Given the description of an element on the screen output the (x, y) to click on. 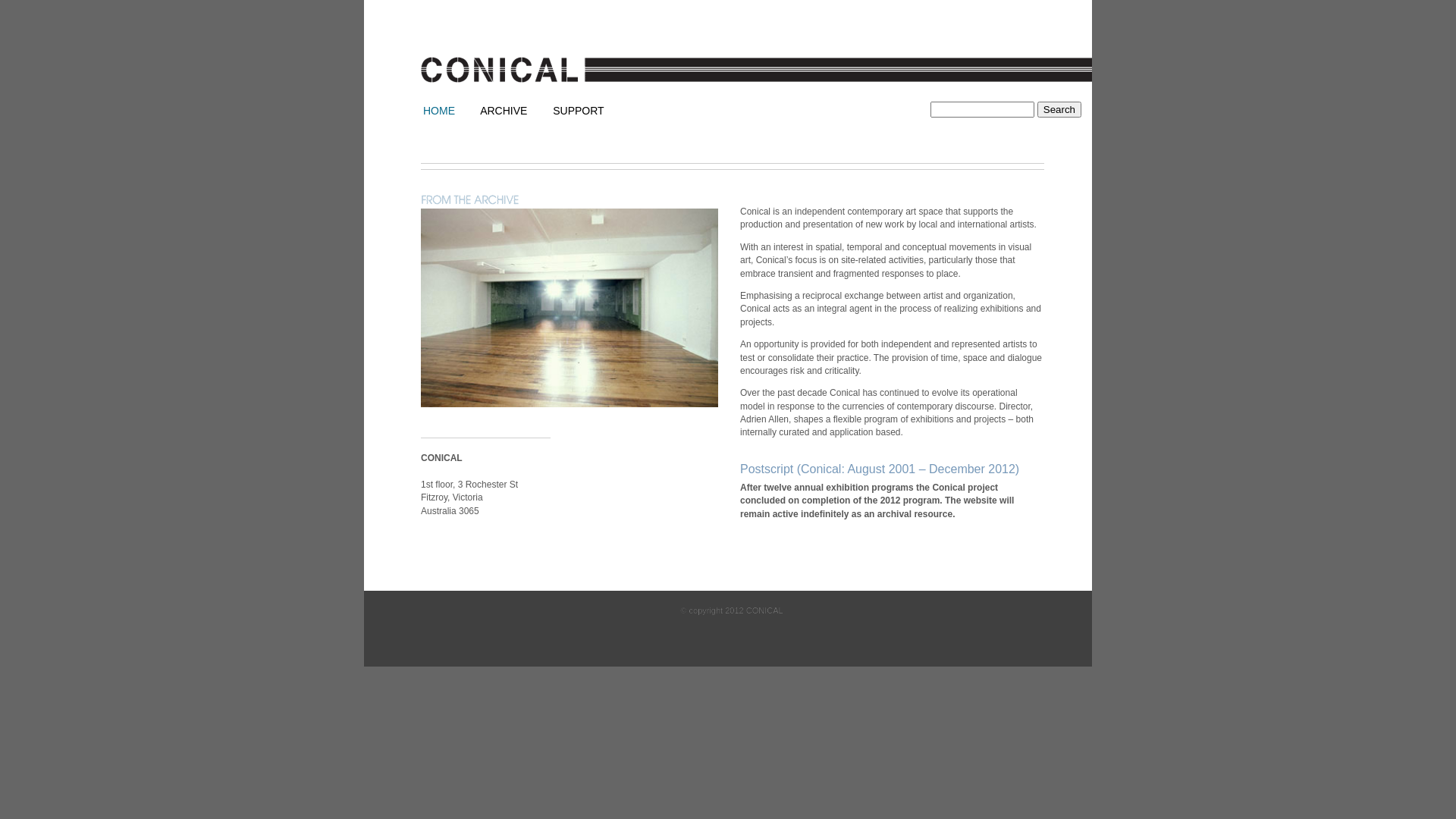
HOME Element type: text (439, 110)
Search Element type: text (1059, 109)
ARCHIVE Element type: text (503, 110)
SUPPORT Element type: text (577, 110)
